Given the description of an element on the screen output the (x, y) to click on. 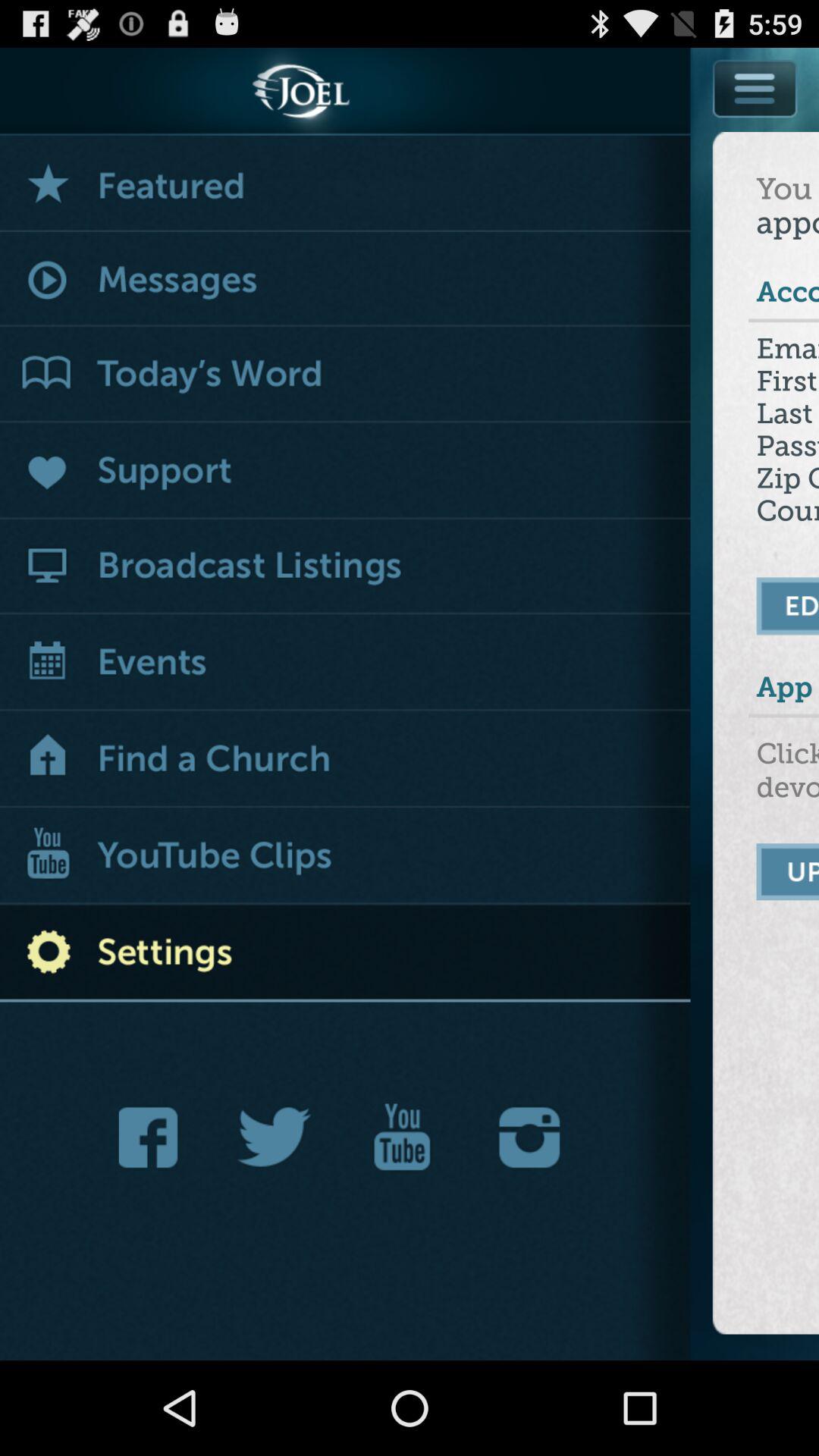
view the church 's youtube videos (345, 856)
